Given the description of an element on the screen output the (x, y) to click on. 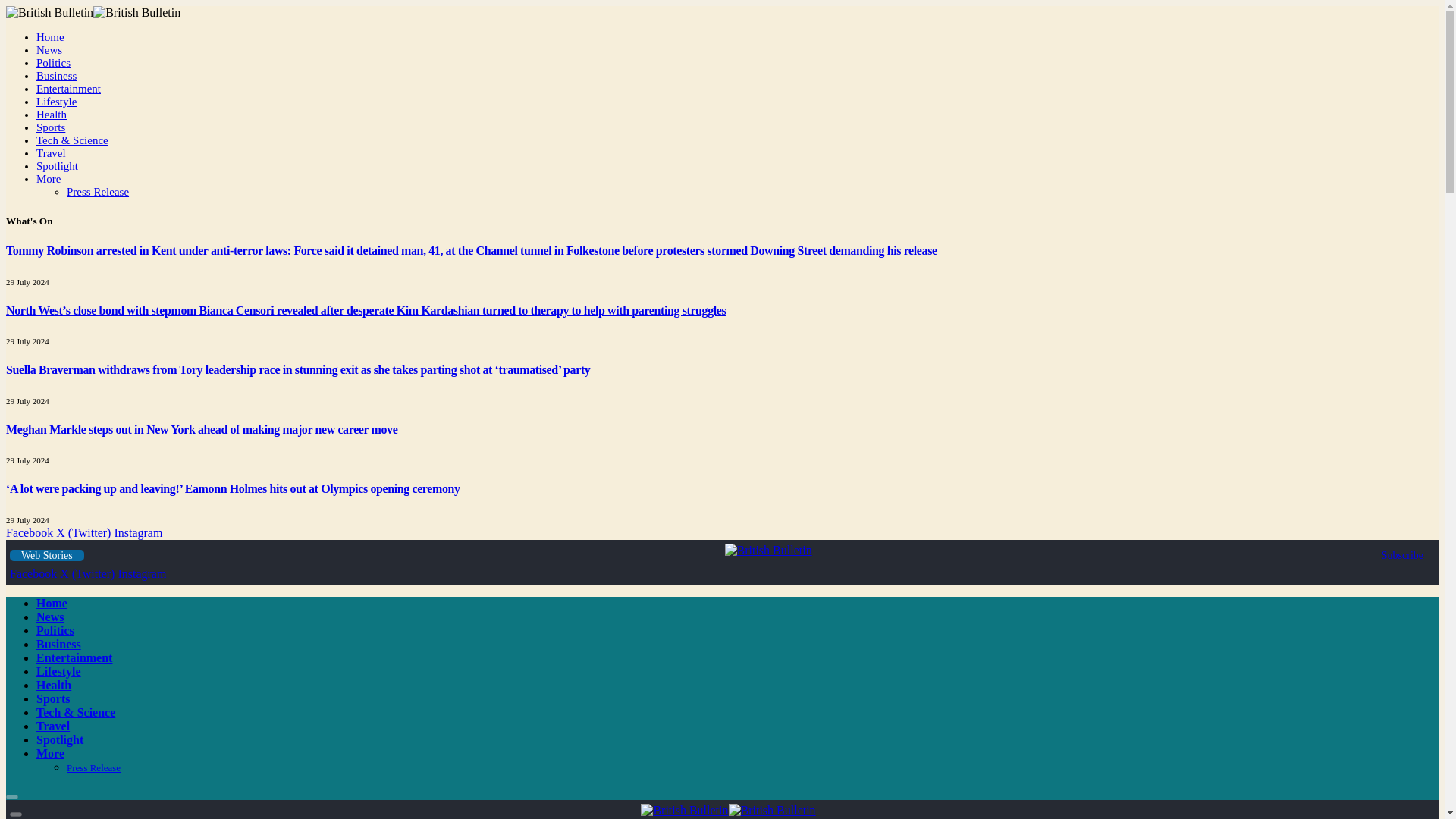
Facebook (34, 573)
Entertainment (74, 657)
Instagram (141, 573)
News (50, 616)
Web Stories (47, 555)
Press Release (97, 191)
Politics (52, 62)
Entertainment (68, 88)
Lifestyle (56, 101)
